Given the description of an element on the screen output the (x, y) to click on. 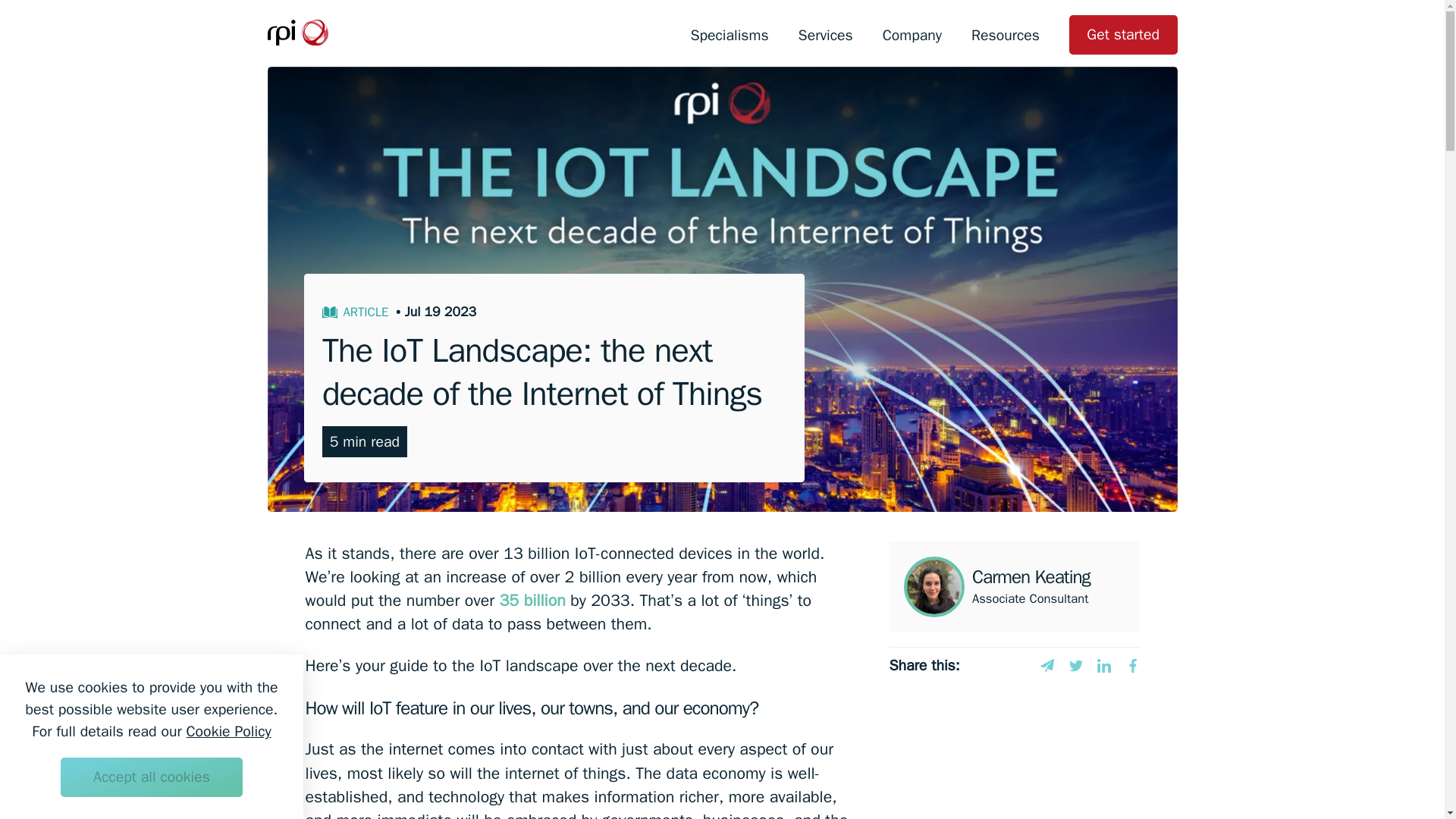
Get started (1122, 34)
35 billion (531, 599)
Get started (1122, 34)
Cookie Policy (228, 731)
Resources (1005, 35)
Accept all cookies (151, 776)
Services (825, 35)
